Given the description of an element on the screen output the (x, y) to click on. 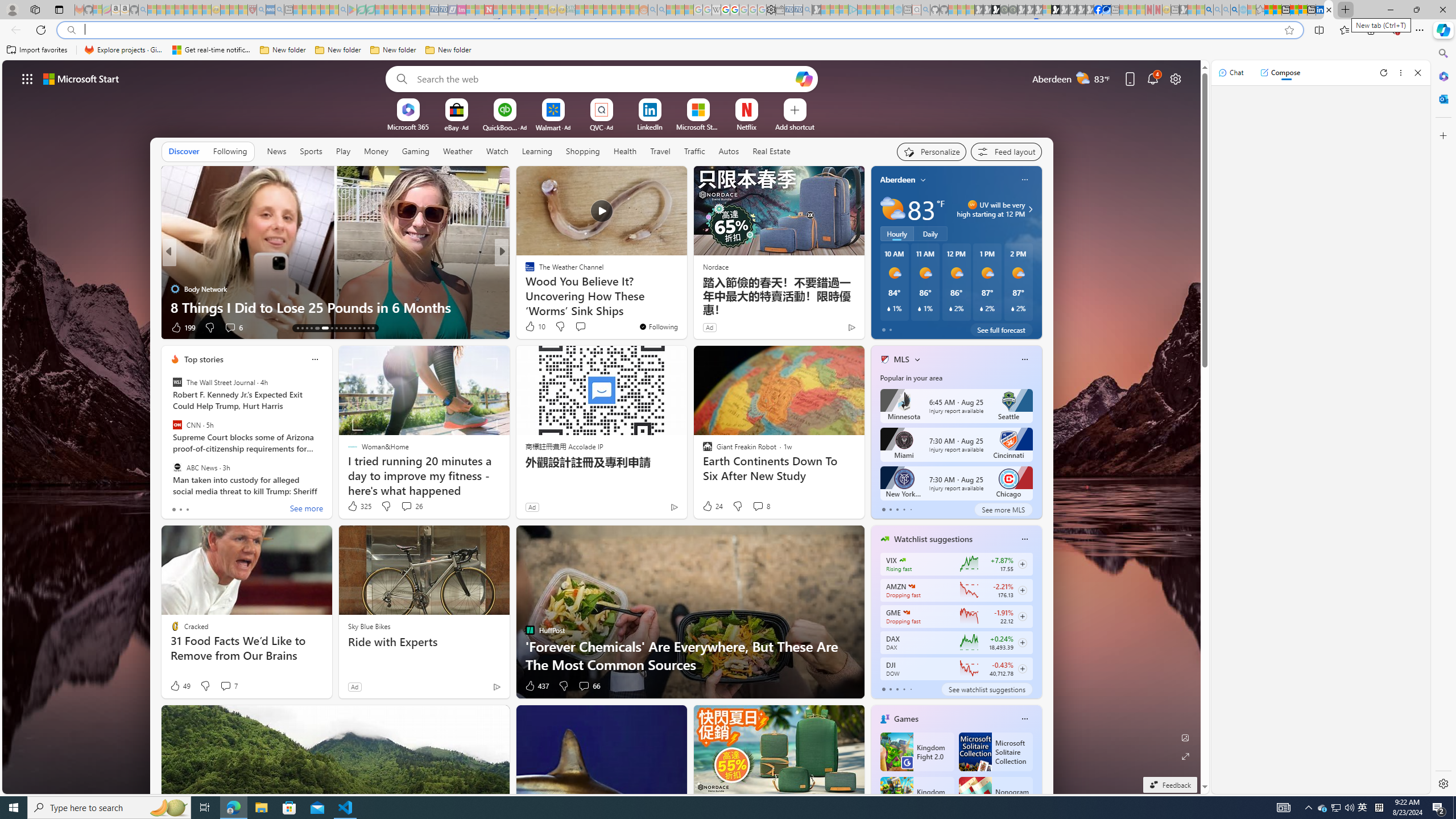
View comments 8 Comment (757, 505)
Learning (537, 151)
Target page - Wikipedia - Sleeping (716, 9)
AutomationID: tab-16 (311, 328)
Gaming (415, 151)
Class: weather-current-precipitation-glyph (1012, 308)
Local - MSN - Sleeping (242, 9)
Bluey: Let's Play! - Apps on Google Play - Sleeping (352, 9)
Hourly (896, 233)
